Given the description of an element on the screen output the (x, y) to click on. 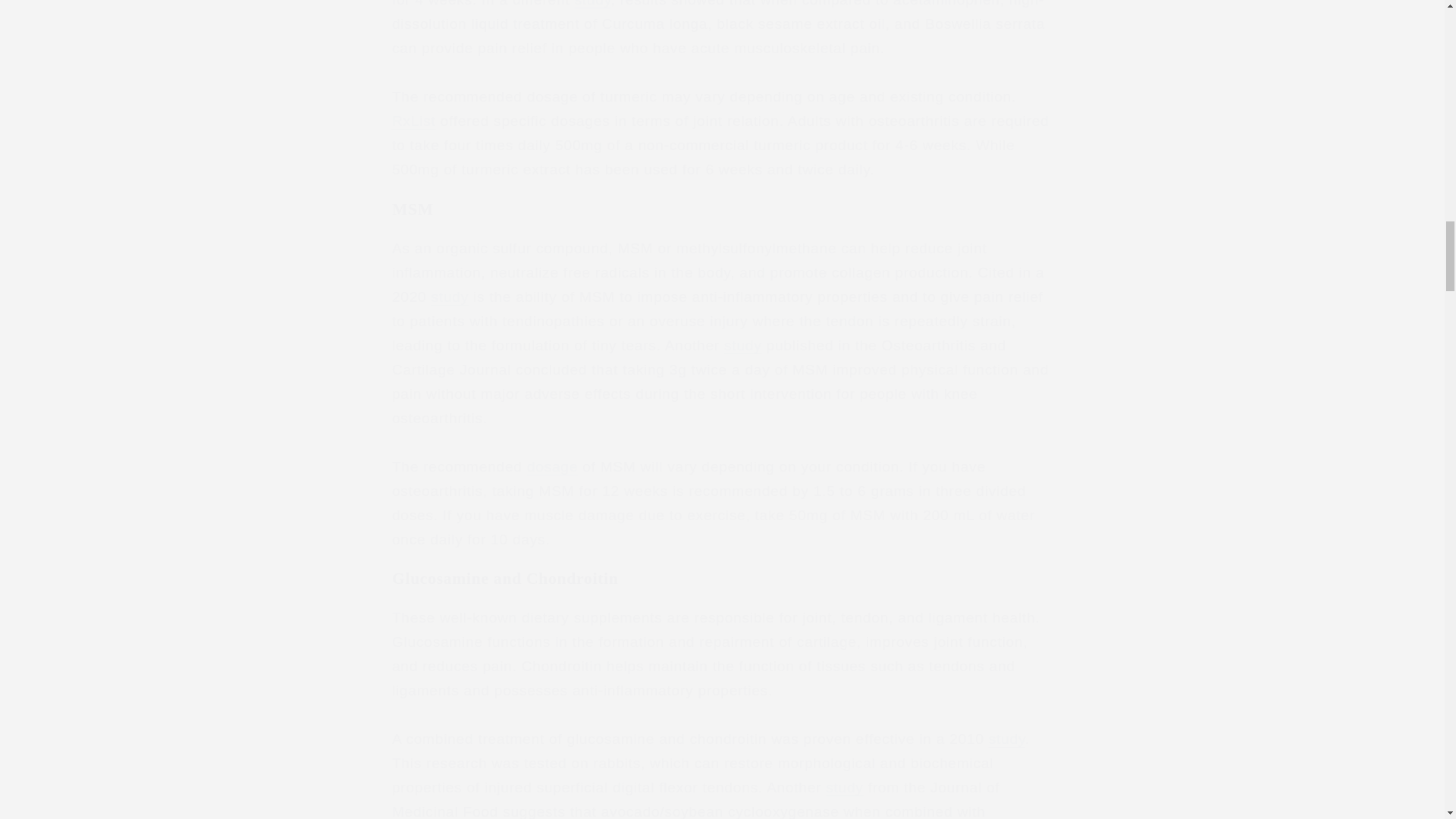
study (1006, 738)
study (742, 344)
study (844, 787)
RxList (413, 120)
study (593, 3)
dosage (552, 466)
study (449, 296)
